Given the description of an element on the screen output the (x, y) to click on. 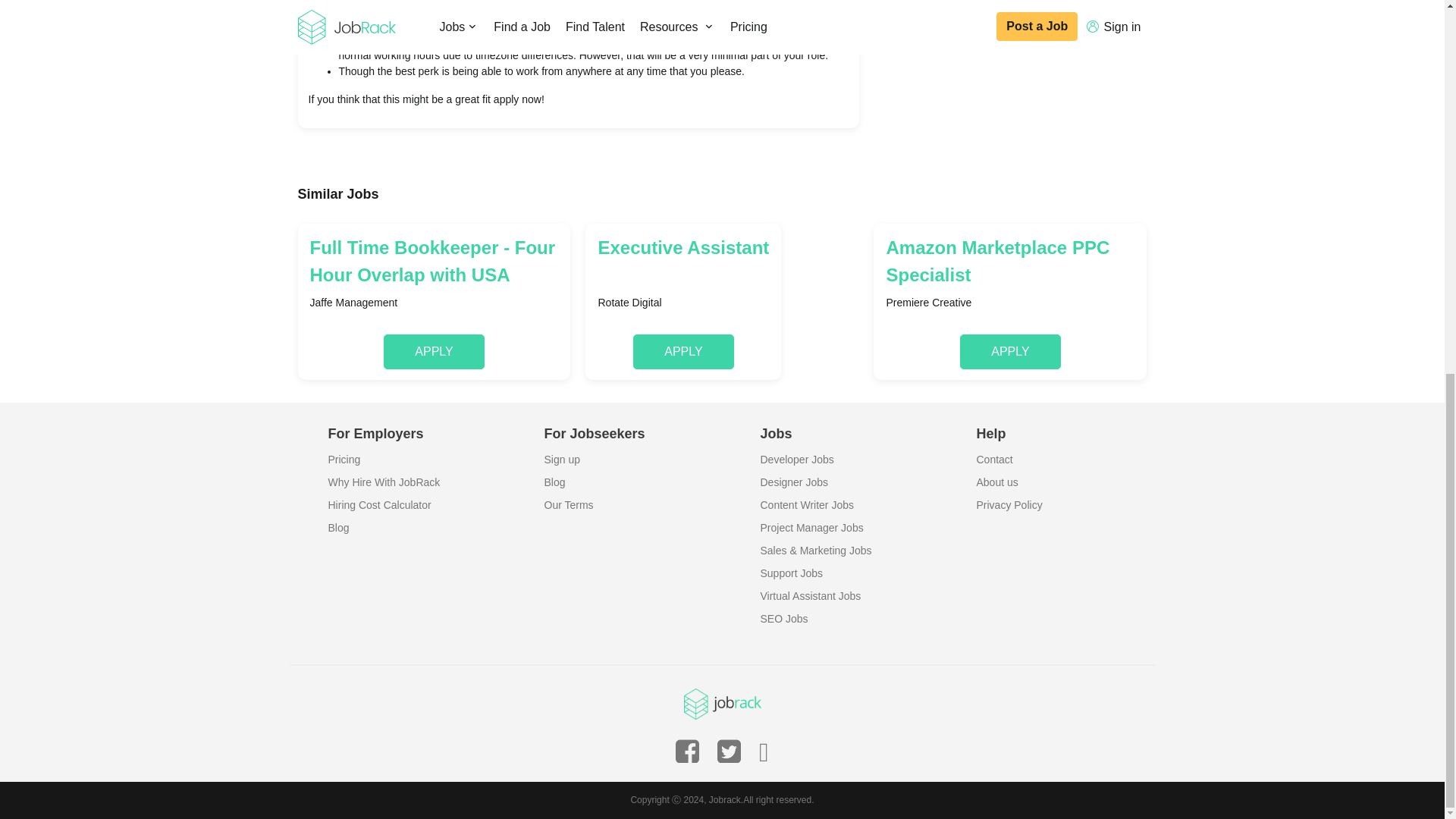
Why Hire With JobRack (383, 481)
Hiring Cost Calculator (378, 504)
Pricing (343, 459)
Amazon Marketplace PPC Specialist (1009, 261)
Executive Assistant (682, 261)
APPLY (1009, 351)
APPLY (683, 351)
APPLY (433, 351)
Full Time Bookkeeper - Four Hour Overlap with USA (432, 261)
